Given the description of an element on the screen output the (x, y) to click on. 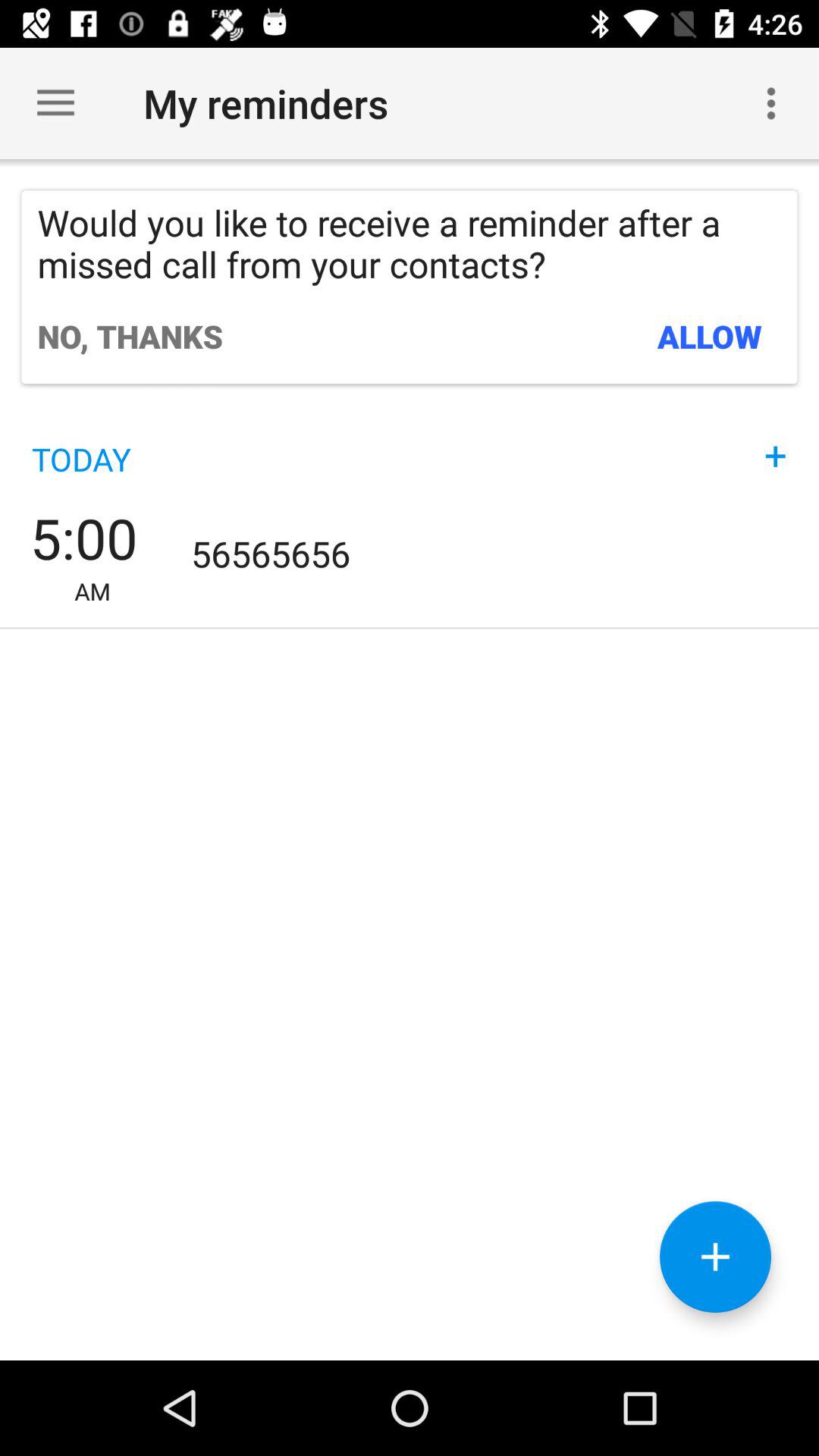
turn off item to the right of the my reminders icon (771, 103)
